Given the description of an element on the screen output the (x, y) to click on. 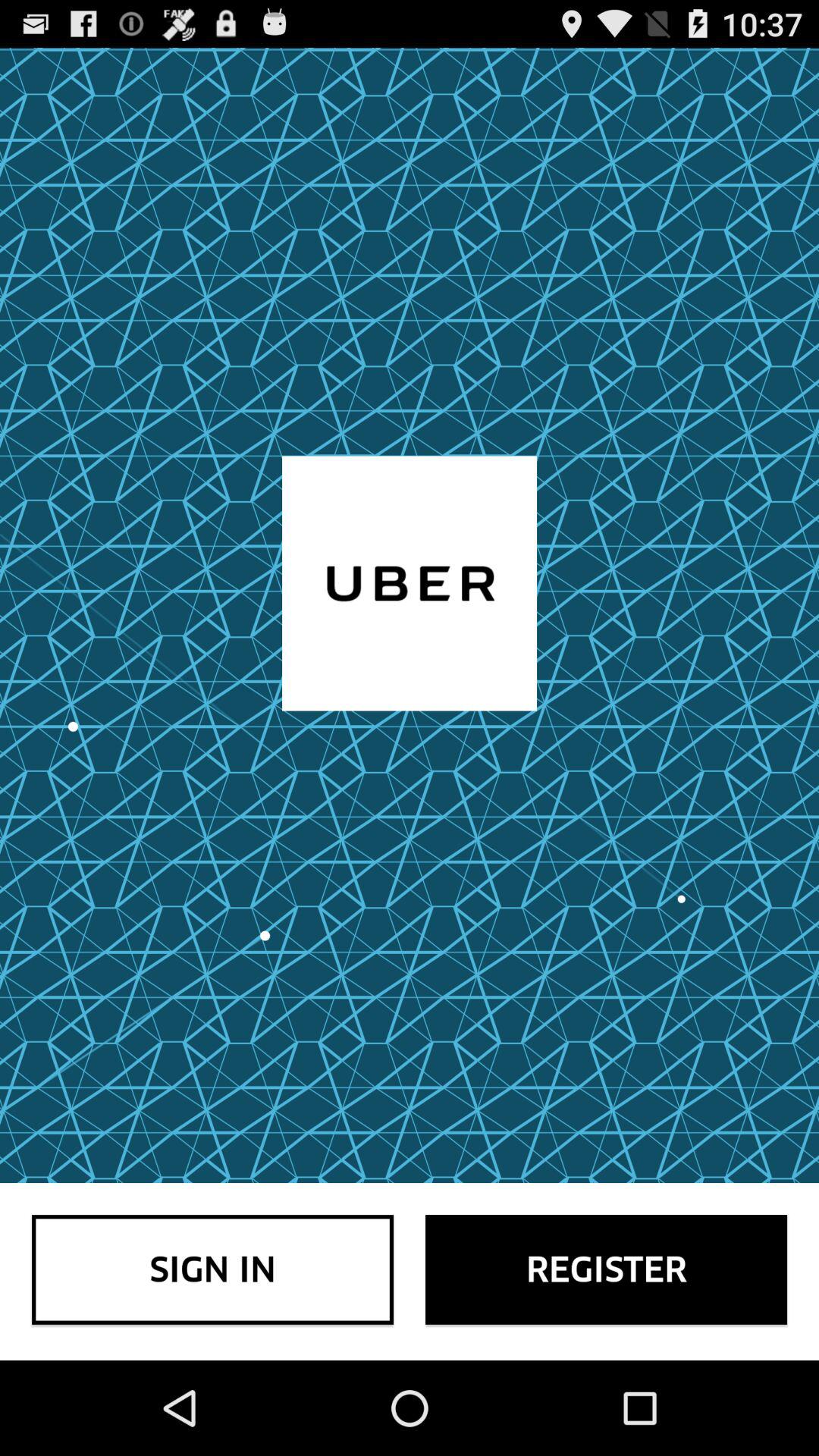
press register item (606, 1269)
